Given the description of an element on the screen output the (x, y) to click on. 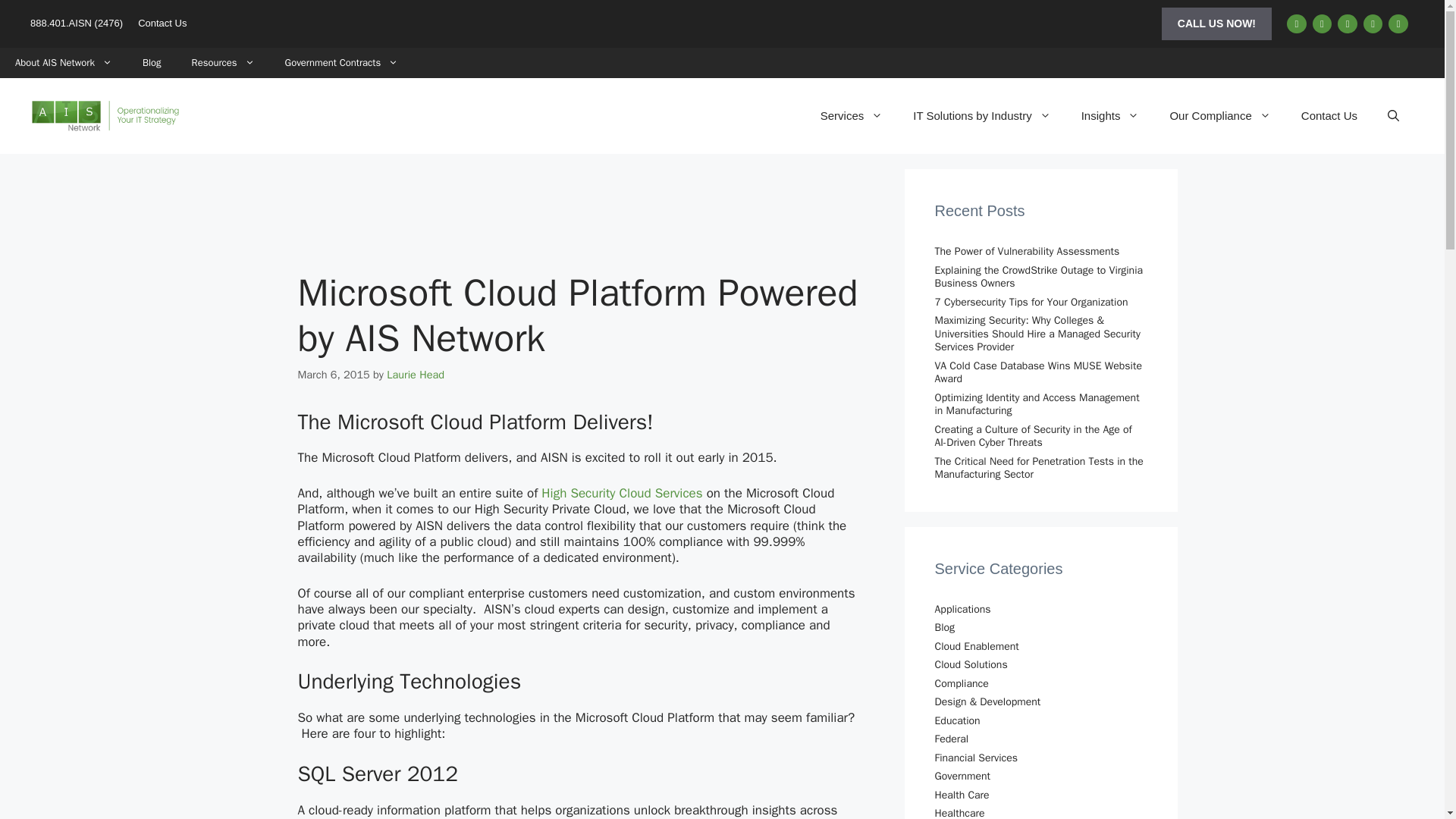
CALL US NOW! (1216, 23)
Services (851, 115)
Instagram (1372, 24)
Contact Us (162, 22)
High Security Cloud Services (621, 493)
Twitter (1347, 24)
About AIS Network (64, 62)
Resources (222, 62)
LinkedIn (1296, 24)
View all posts by Laurie Head (415, 374)
